Given the description of an element on the screen output the (x, y) to click on. 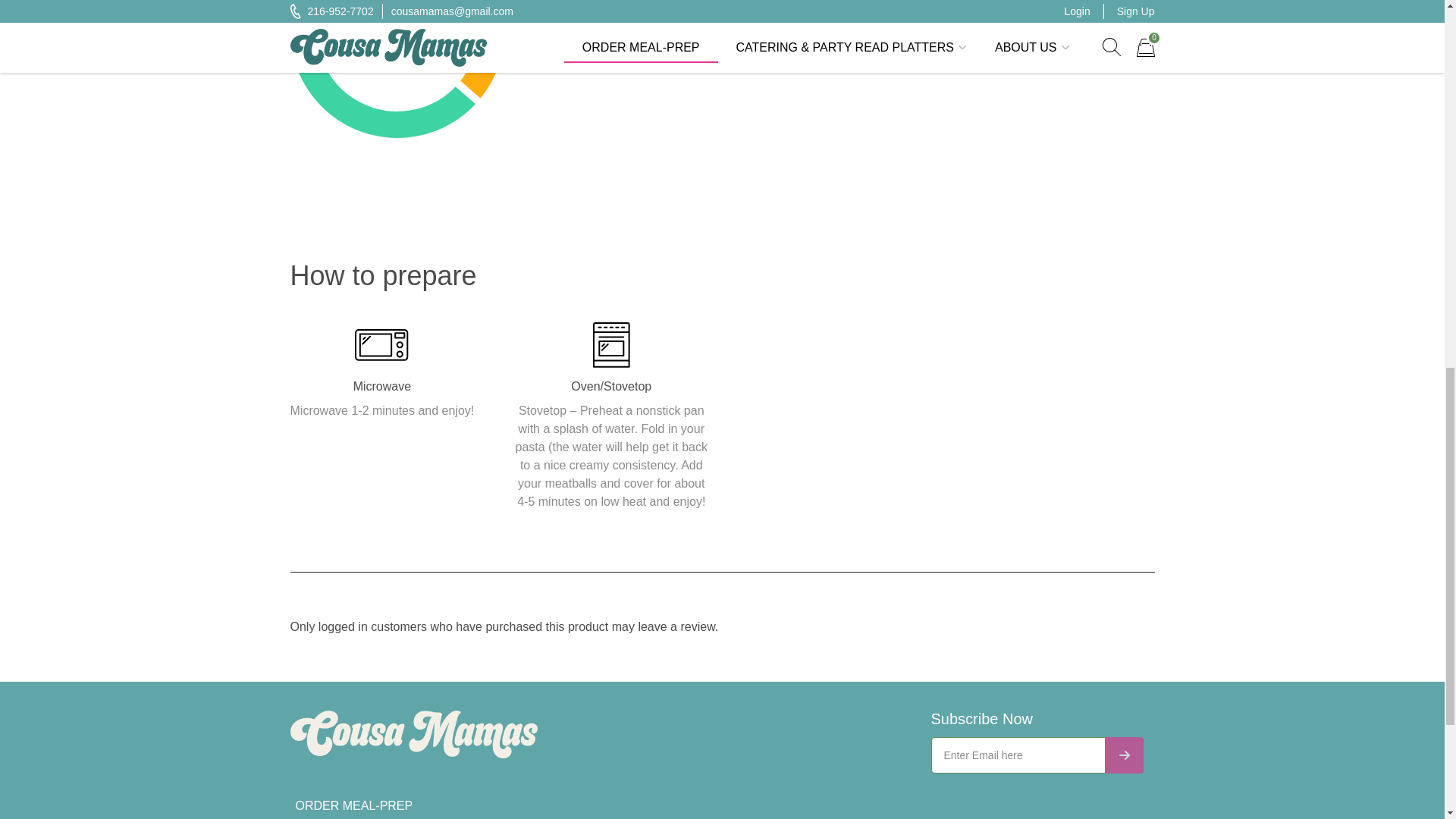
Microwave (382, 345)
